Given the description of an element on the screen output the (x, y) to click on. 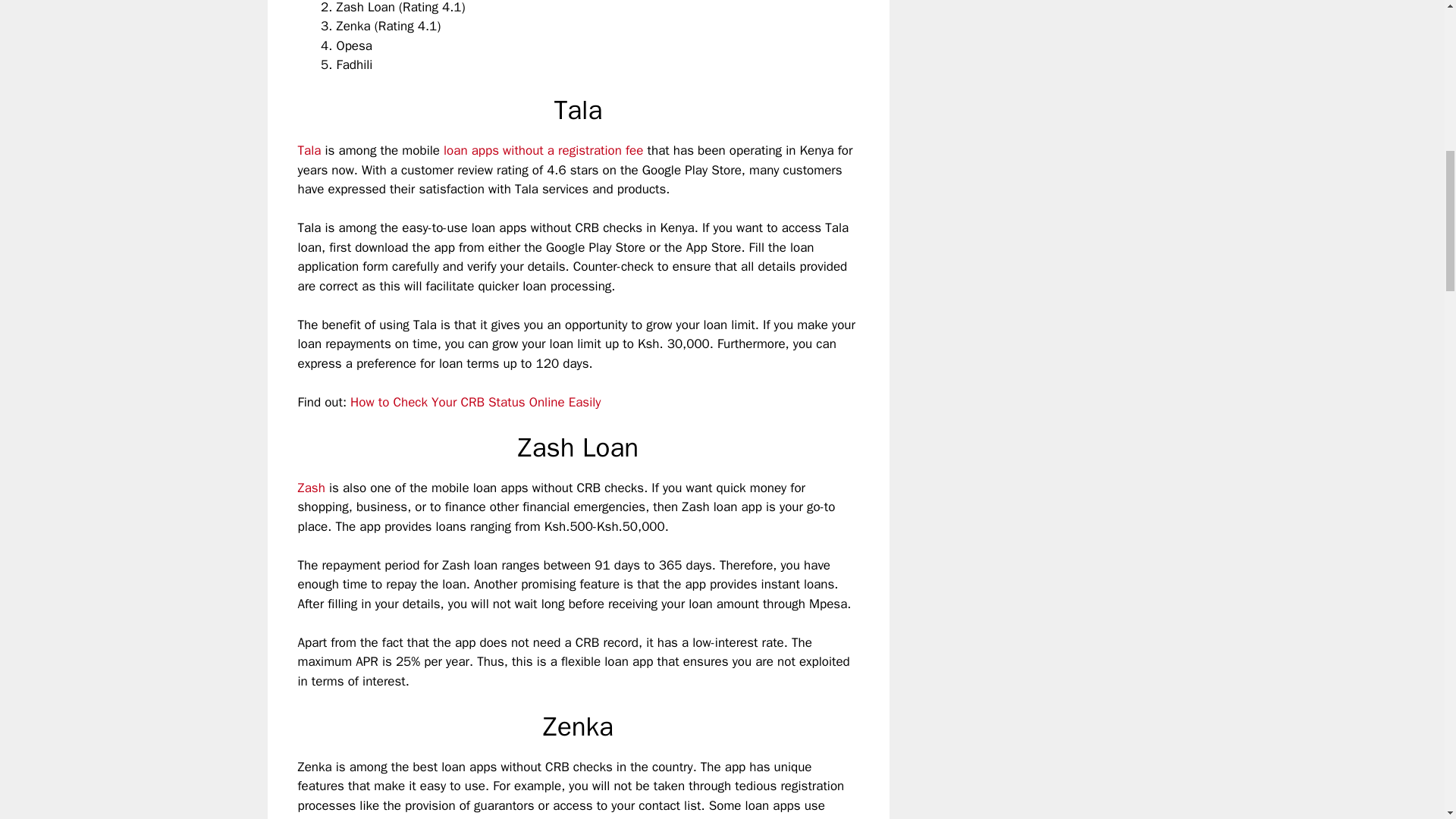
loan apps without a registration fee (543, 150)
How to Check Your CRB Status Online Easily (474, 401)
Tala (308, 150)
Zash (310, 487)
